Given the description of an element on the screen output the (x, y) to click on. 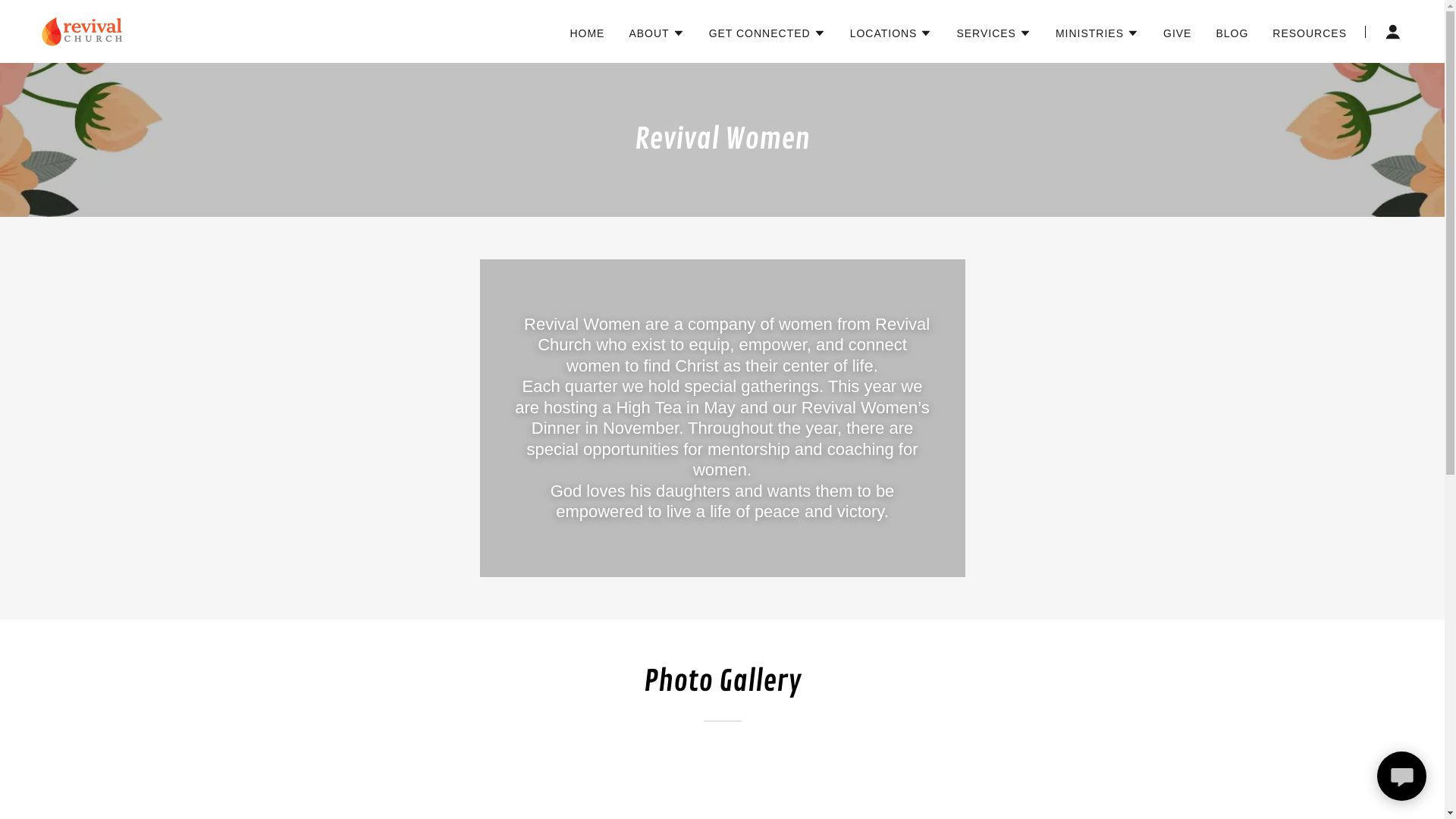
GET CONNECTED Element type: text (767, 33)
SERVICES Element type: text (993, 33)
LOCATIONS Element type: text (891, 33)
HOME Element type: text (586, 33)
Revival Church Element type: hover (82, 30)
MINISTRIES Element type: text (1097, 33)
BLOG Element type: text (1231, 33)
RESOURCES Element type: text (1309, 33)
ABOUT Element type: text (656, 33)
GIVE Element type: text (1176, 33)
